Given the description of an element on the screen output the (x, y) to click on. 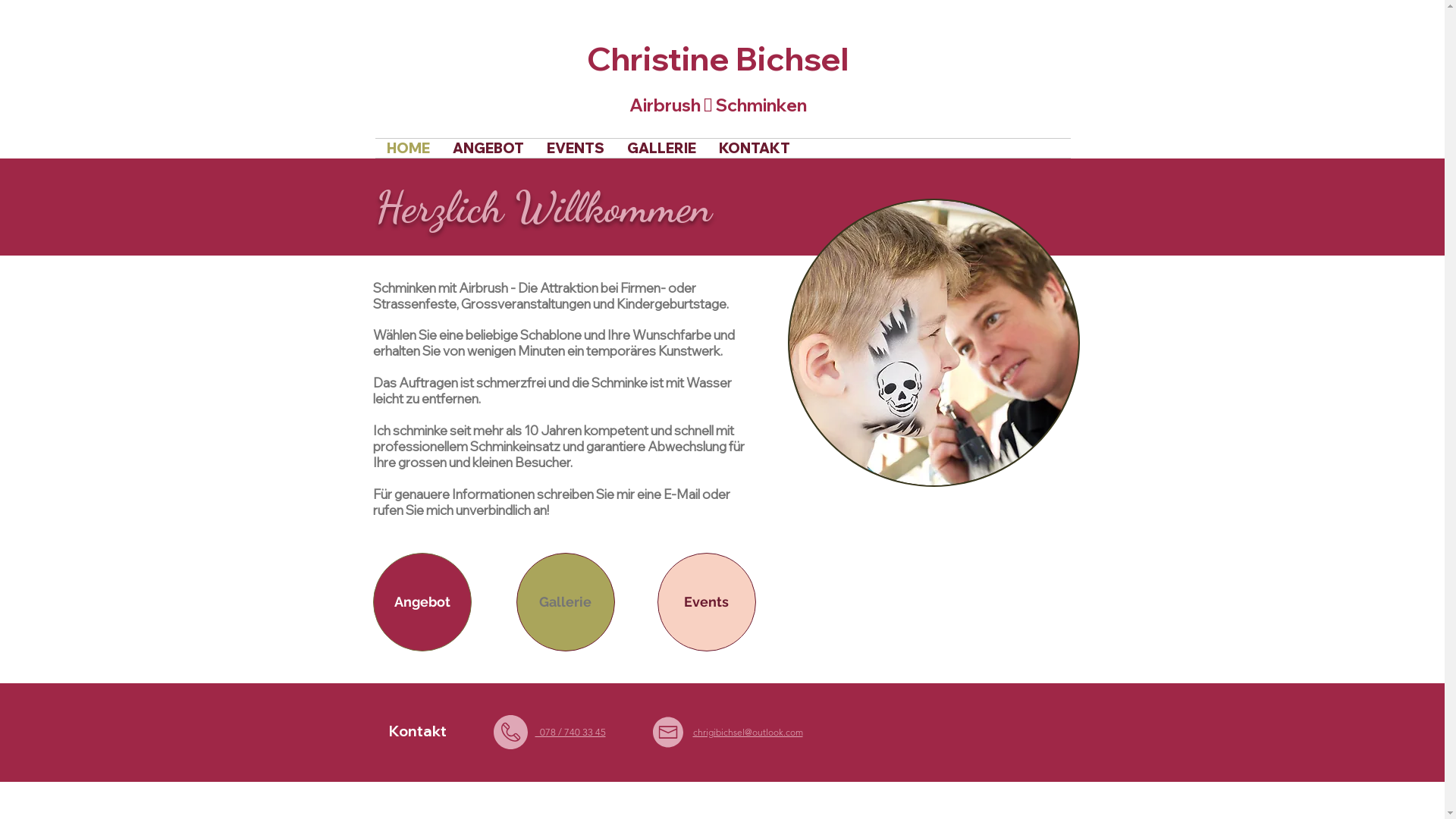
HOME Element type: text (407, 147)
Christine Bichsel Element type: text (717, 57)
KONTAKT Element type: text (753, 147)
  078 / 740 33 45 Element type: text (570, 731)
Angebot Element type: text (422, 601)
ANGEBOT Element type: text (488, 147)
GALLERIE Element type: text (661, 147)
chrigibichsel@outlook.com Element type: text (748, 731)
Events Element type: text (705, 601)
Gallerie Element type: text (564, 601)
EVENTS Element type: text (575, 147)
